Given the description of an element on the screen output the (x, y) to click on. 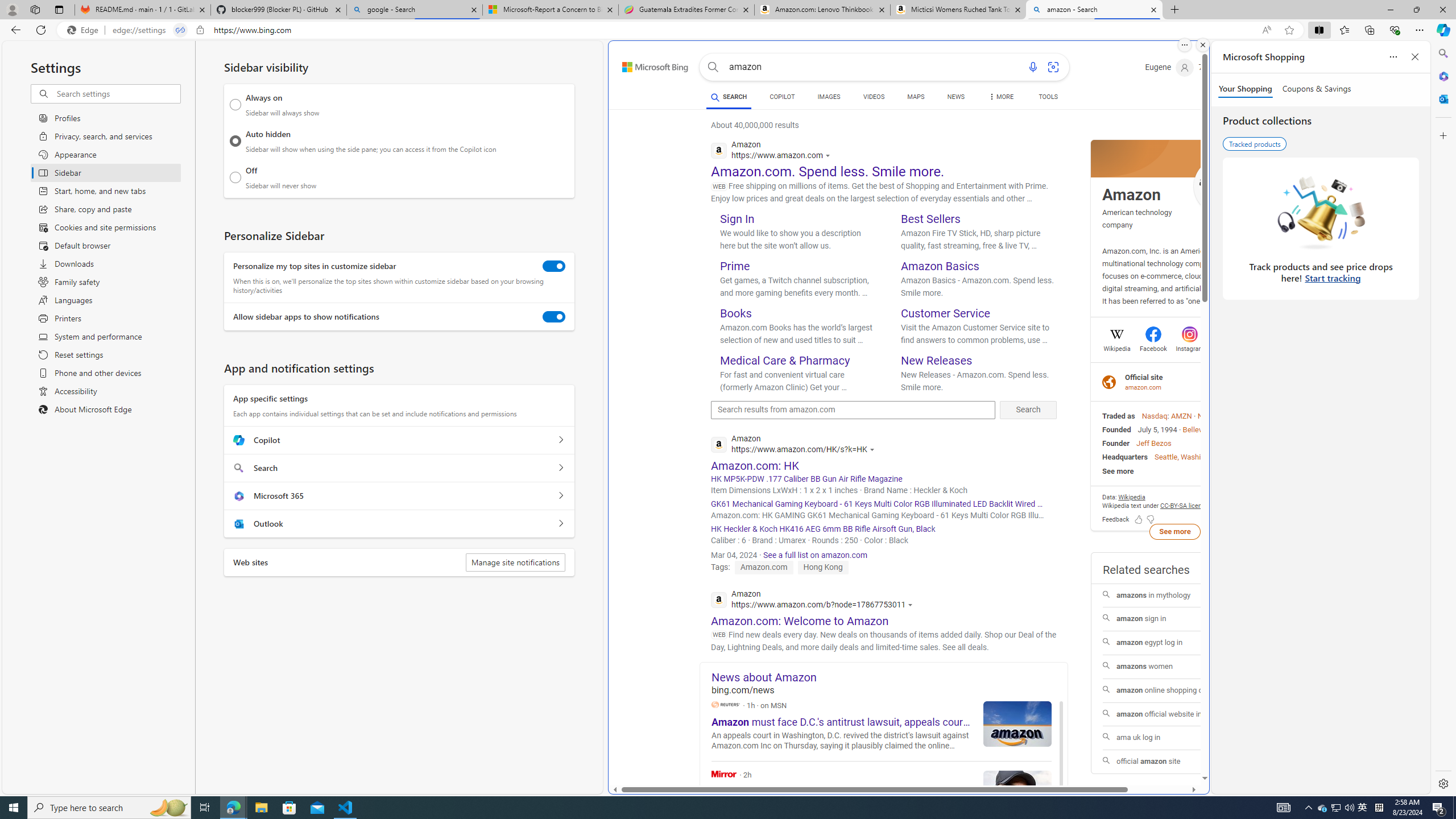
amazon online shopping department (1174, 690)
Facebook (1152, 347)
Tabs in split screen (180, 29)
See more images of Amazon (1221, 186)
The Mirror (723, 773)
official amazon site (1174, 761)
amazons in mythology (1174, 595)
Wikipedia (1116, 347)
